Given the description of an element on the screen output the (x, y) to click on. 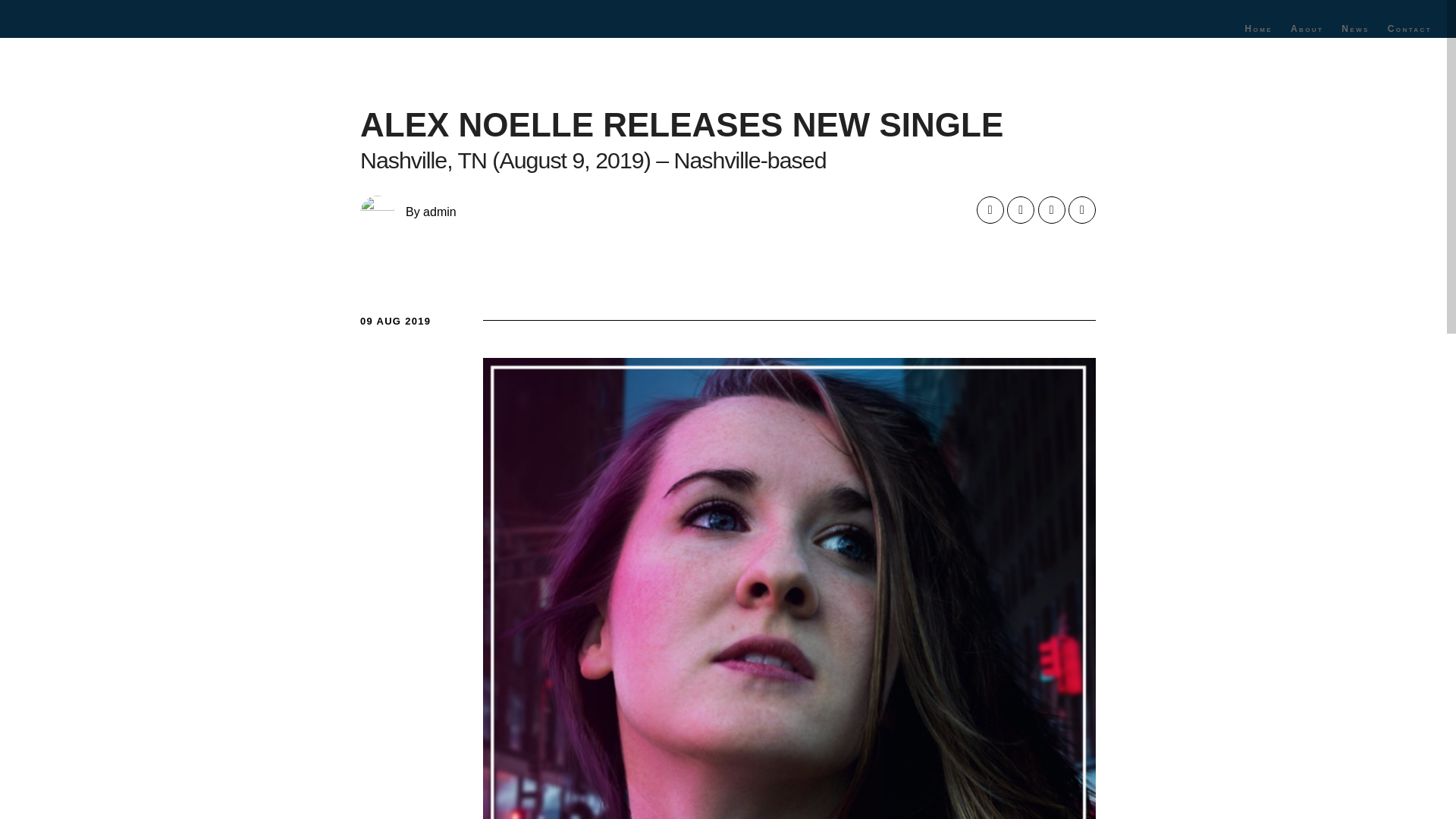
About (1306, 29)
Home (1257, 29)
News (1355, 29)
Contact (1409, 29)
